Given the description of an element on the screen output the (x, y) to click on. 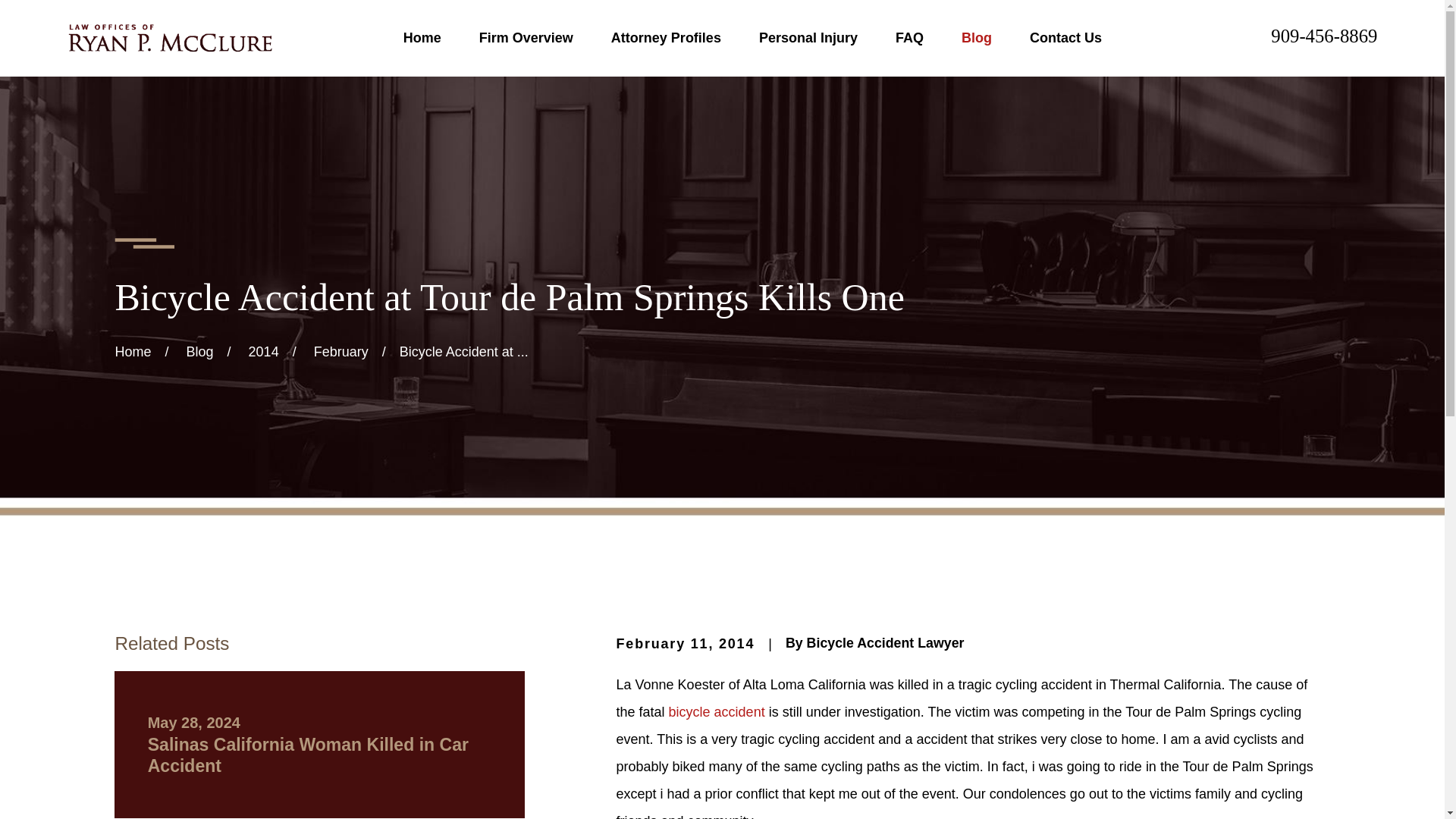
Home (168, 37)
Firm Overview (526, 38)
Go Home (133, 351)
Personal Injury (807, 38)
Attorney Profiles (665, 38)
